Given the description of an element on the screen output the (x, y) to click on. 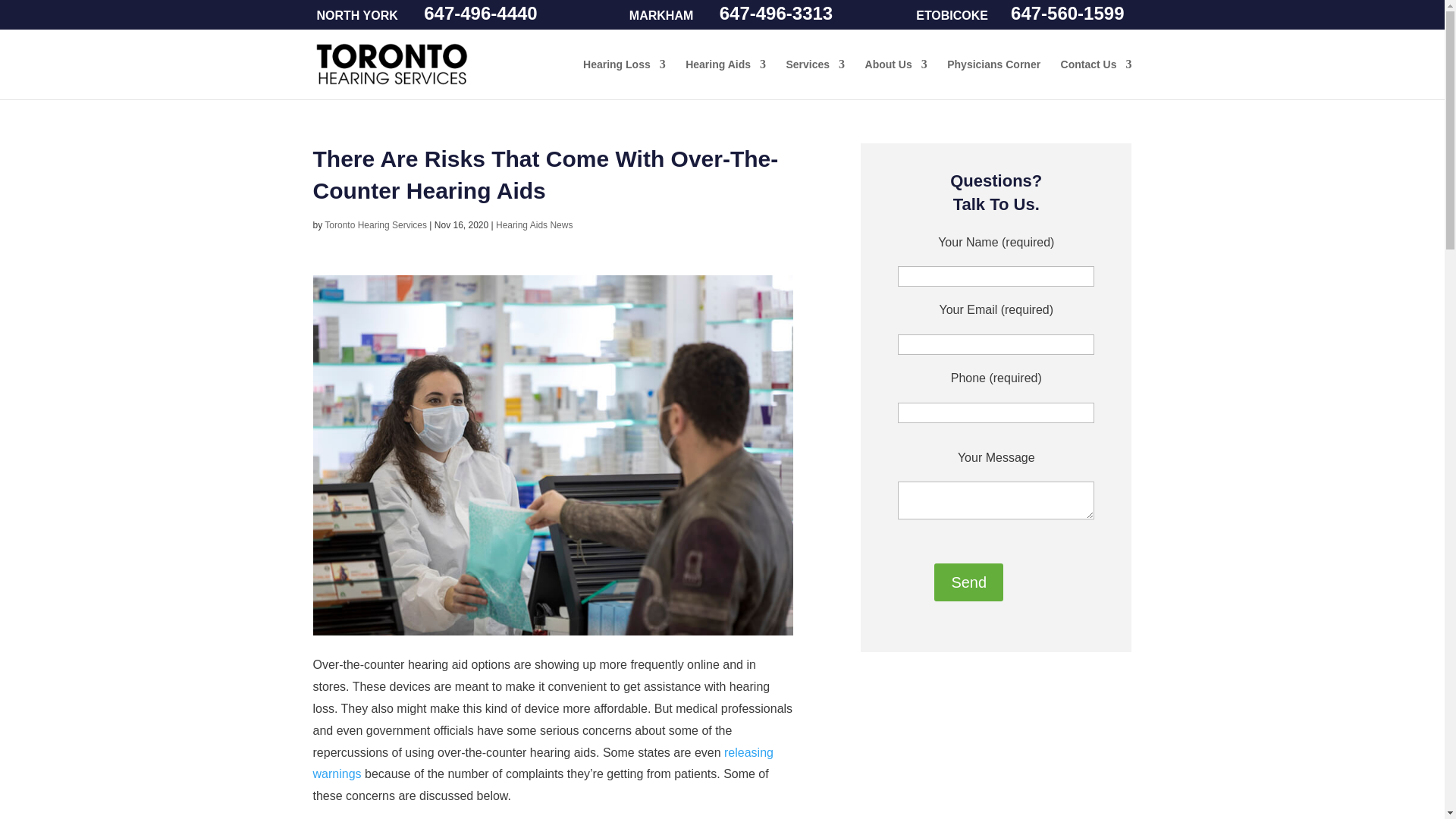
NORTH YORK (357, 15)
647-496-4440 (480, 13)
647-496-3313 (775, 13)
MARKHAM (660, 15)
Hearing Aids (725, 78)
647-560-1599 (1067, 13)
Posts by Toronto Hearing Services (375, 225)
Send (968, 582)
About Us (895, 78)
Services (815, 78)
Toronto Hearing Services (391, 78)
ETOBICOKE (951, 15)
Hearing Loss (624, 78)
